Given the description of an element on the screen output the (x, y) to click on. 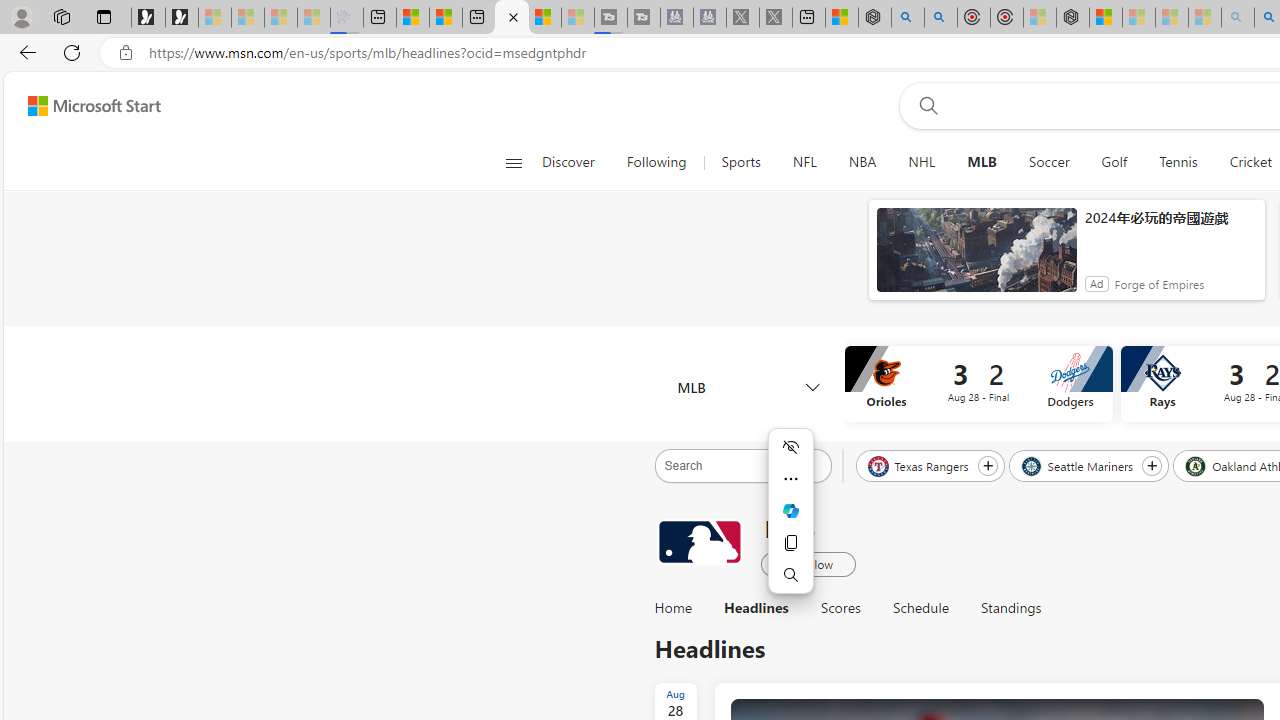
Golf (1114, 162)
Golf (1113, 162)
Tennis (1178, 162)
Follow Texas Rangers (987, 465)
MLB Headlines | Microsoft Start Sports (511, 17)
Forge of Empires (1158, 283)
Schedule (920, 607)
Nordace - Nordace Siena Is Not An Ordinary Backpack (1073, 17)
poe ++ standard - Search (941, 17)
